Given the description of an element on the screen output the (x, y) to click on. 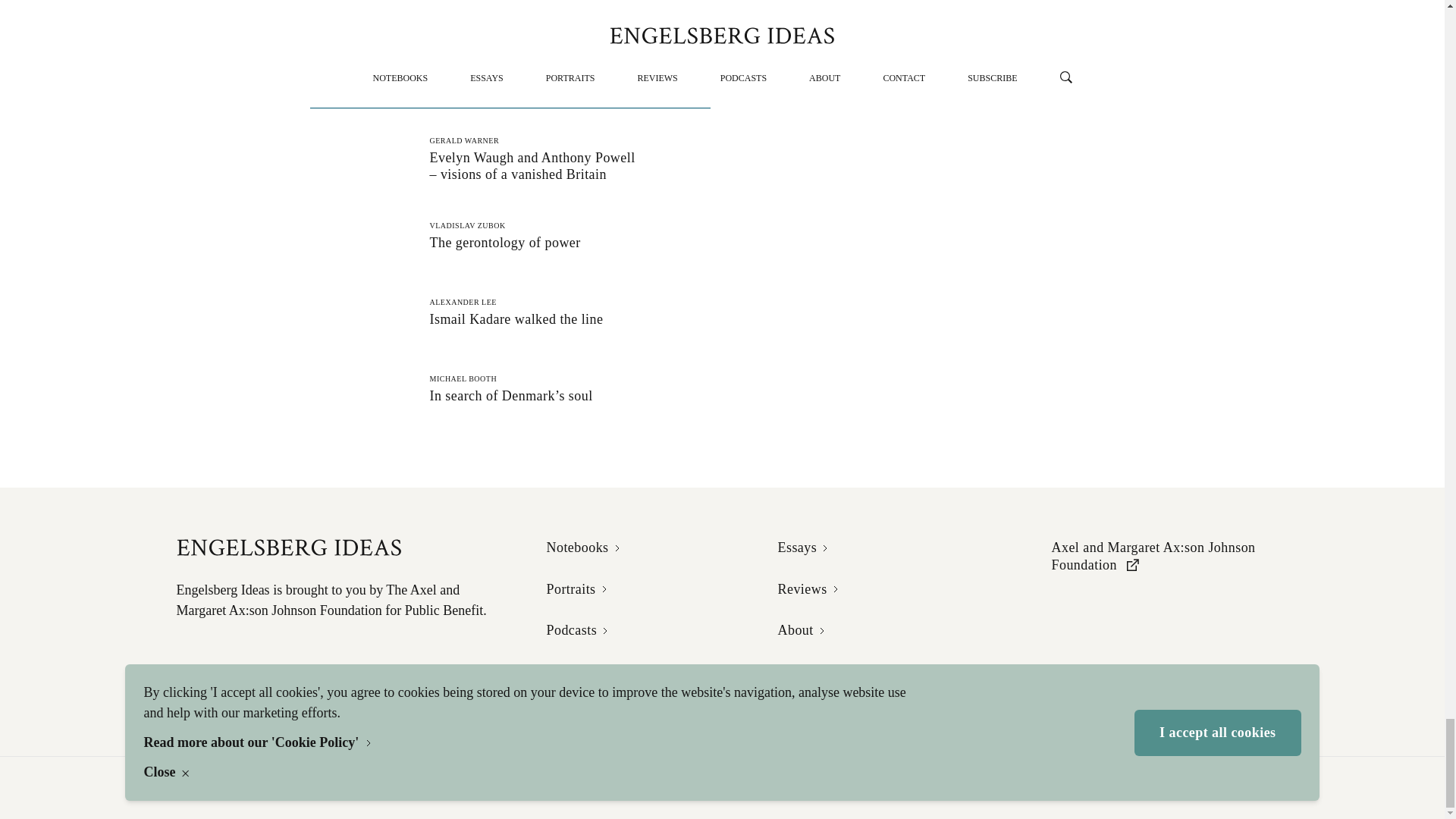
More about Hew Strachan (475, 4)
Engelsbergs Ideas (509, 235)
Notebooks (509, 311)
